Given the description of an element on the screen output the (x, y) to click on. 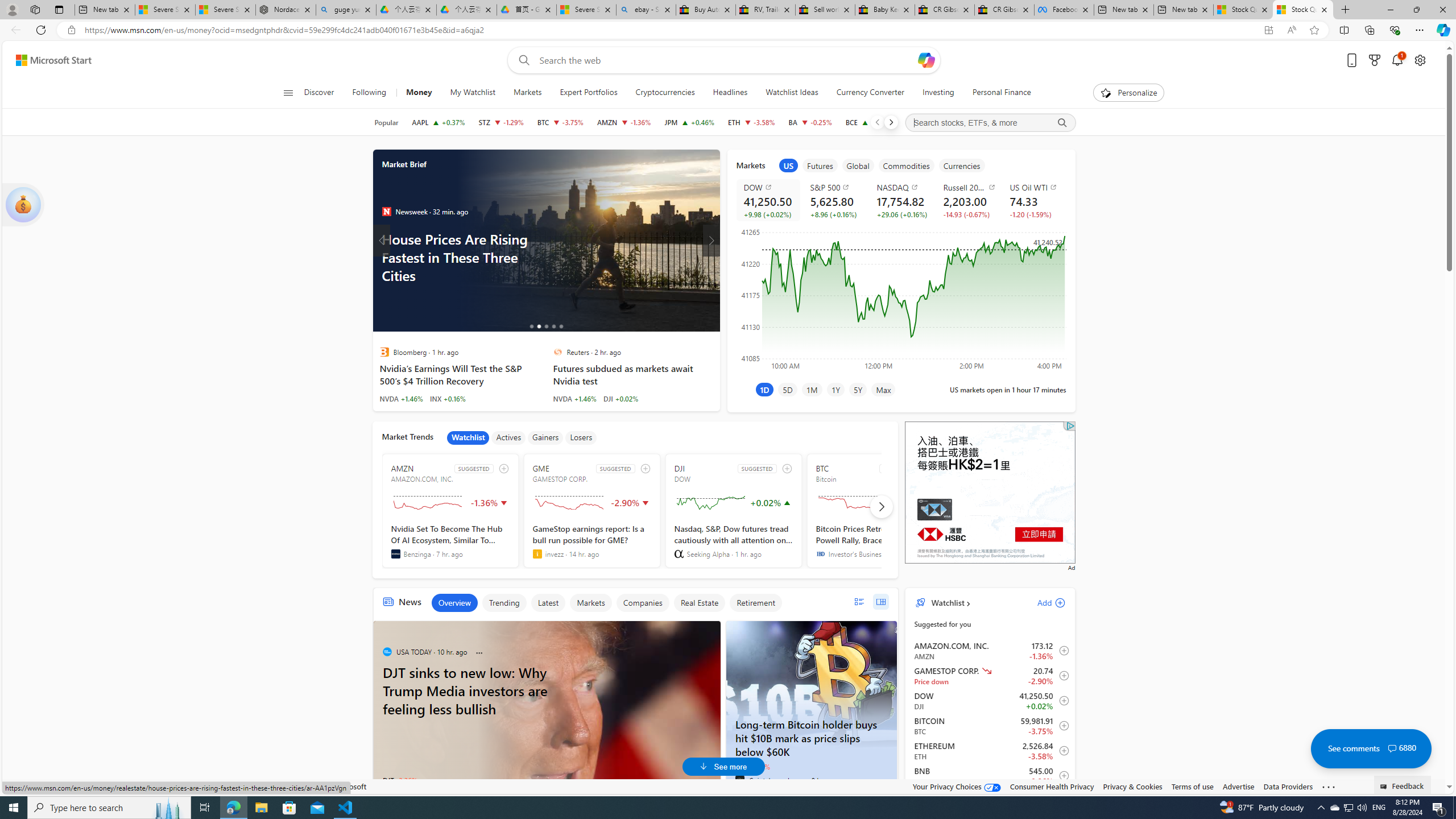
Markets (590, 602)
Web search (520, 60)
My Watchlist (472, 92)
My Watchlist (472, 92)
To get missing image descriptions, open the context menu. (1105, 92)
Retirement (755, 602)
Personalize (1128, 92)
DOW (770, 187)
Latest (546, 602)
Privacy & Cookies (1131, 785)
Personal Finance (1001, 92)
